Given the description of an element on the screen output the (x, y) to click on. 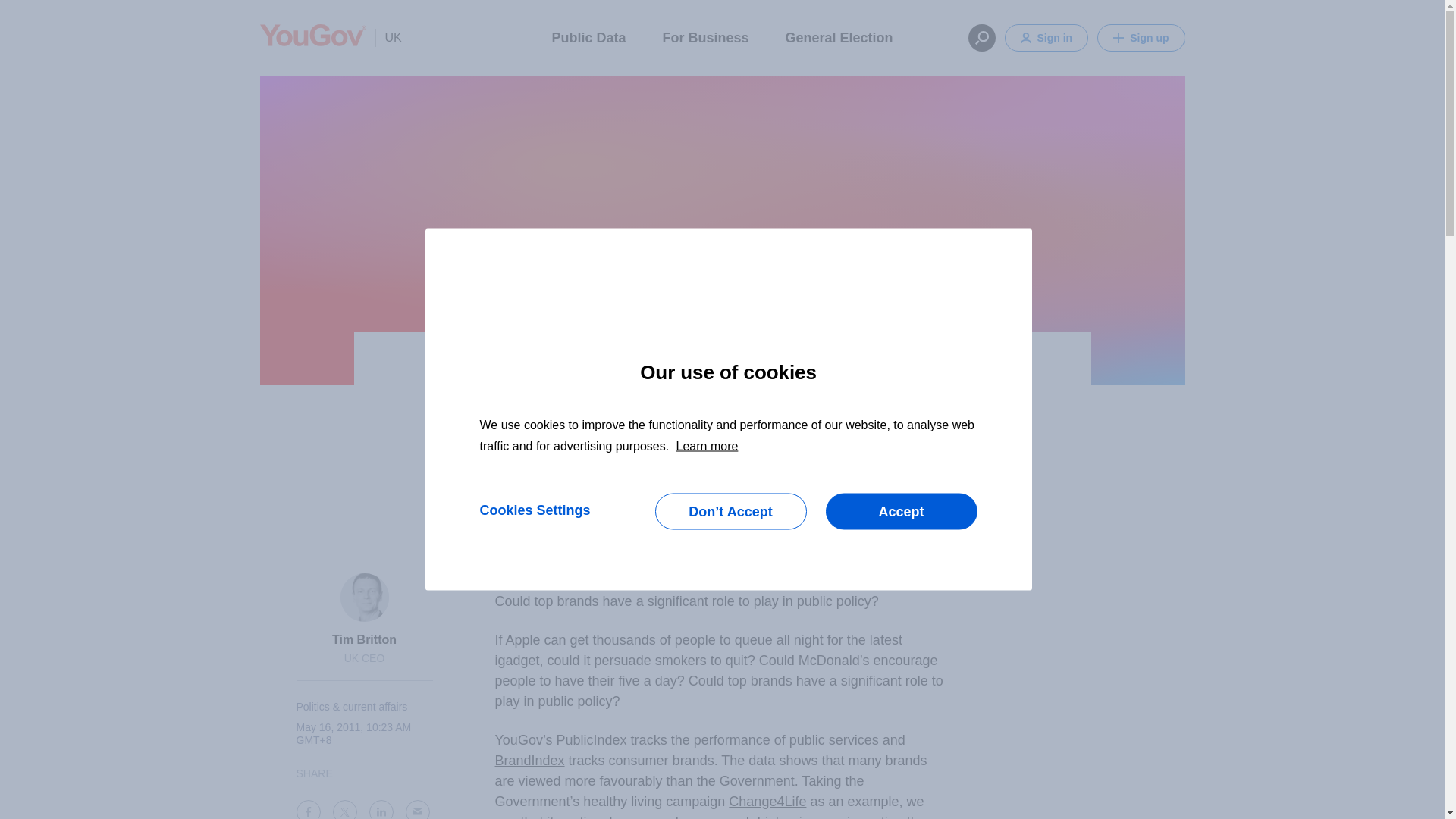
General Election (839, 37)
UK (387, 37)
For Business (705, 37)
Sign in (1045, 37)
Public Data (588, 37)
Sign up (1141, 37)
